Given the description of an element on the screen output the (x, y) to click on. 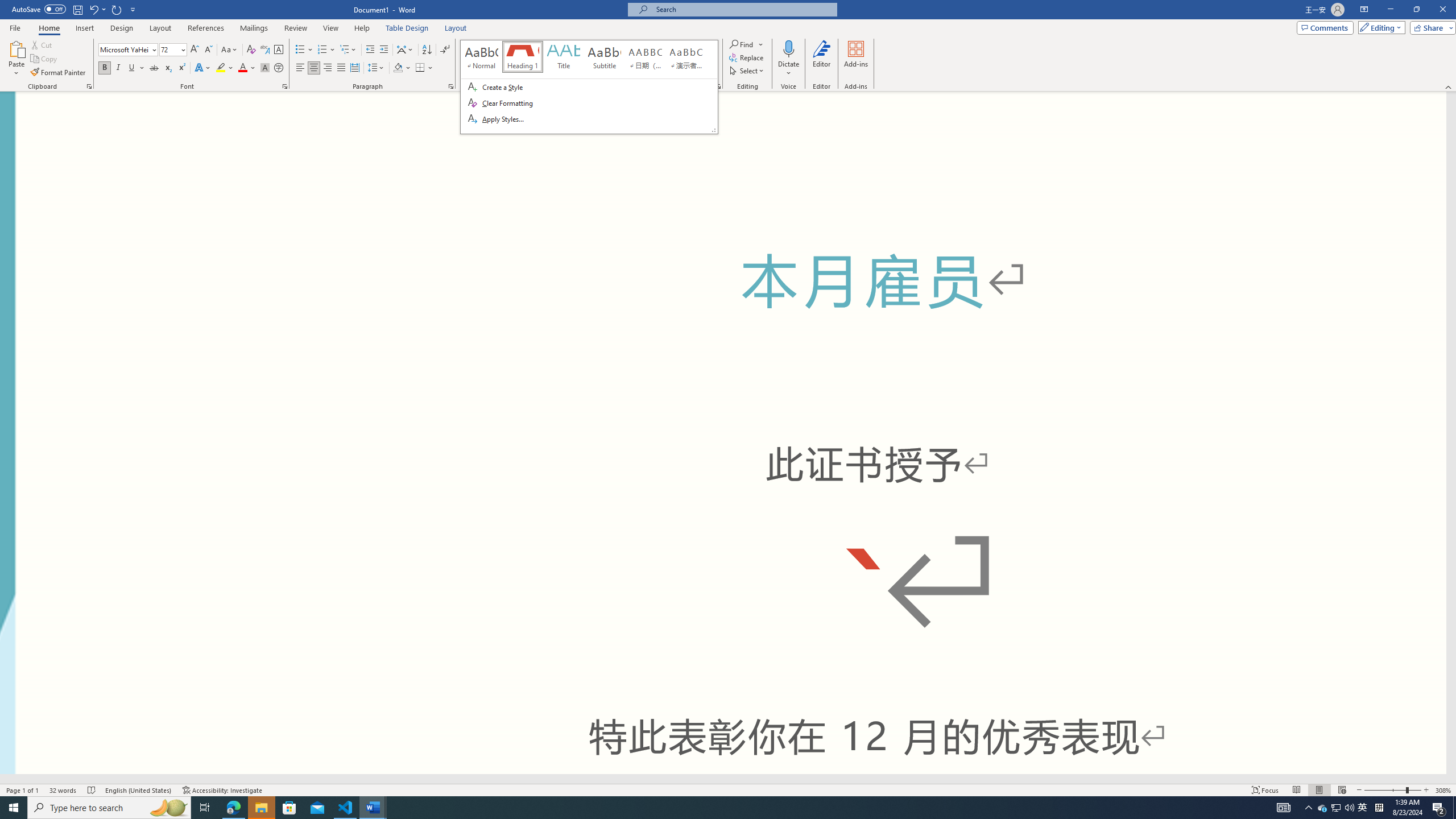
Shading (402, 67)
Font Color Red (241, 67)
Multilevel List (347, 49)
Clear Formatting (250, 49)
Subscript (167, 67)
Font Color (246, 67)
Microsoft Edge - 1 running window (233, 807)
Action Center, 2 new notifications (1439, 807)
Tray Input Indicator - Chinese (Simplified, China) (1378, 807)
Type here to search (108, 807)
Running applications (700, 807)
Cut (42, 44)
